Given the description of an element on the screen output the (x, y) to click on. 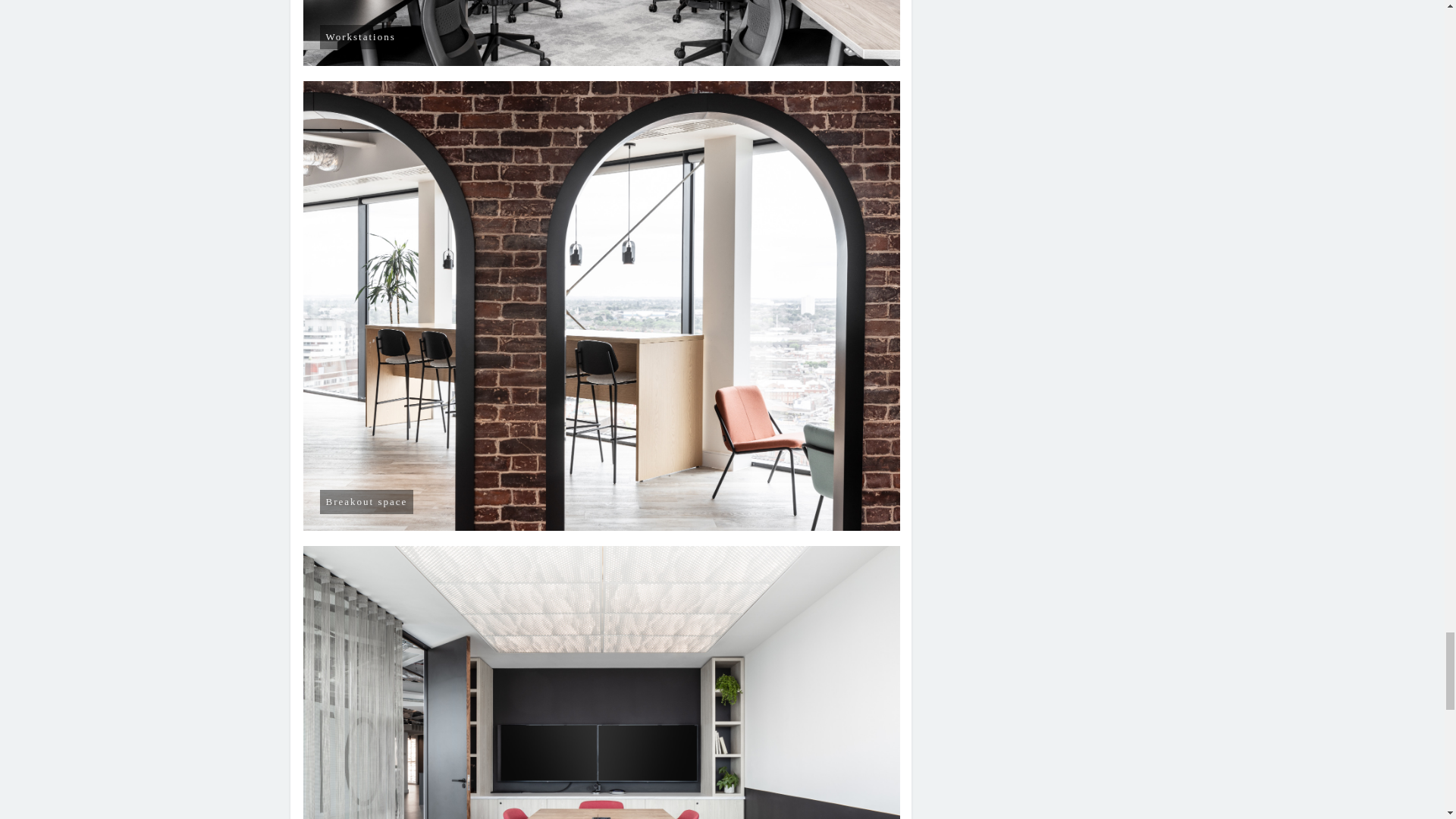
Workstations (601, 33)
